Given the description of an element on the screen output the (x, y) to click on. 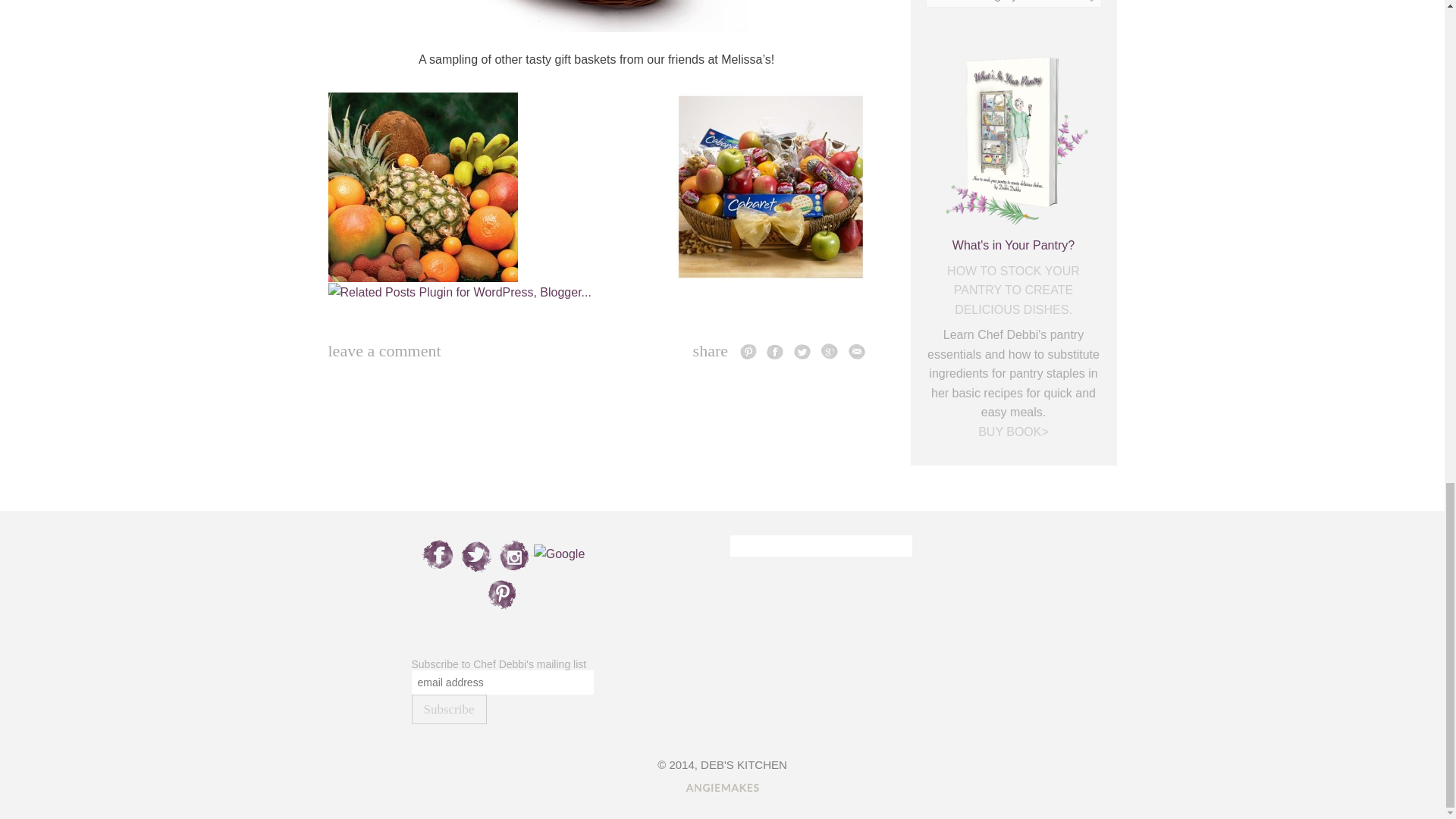
Share by Email (855, 351)
Subscribe (448, 708)
leave a comment (384, 350)
